Given the description of an element on the screen output the (x, y) to click on. 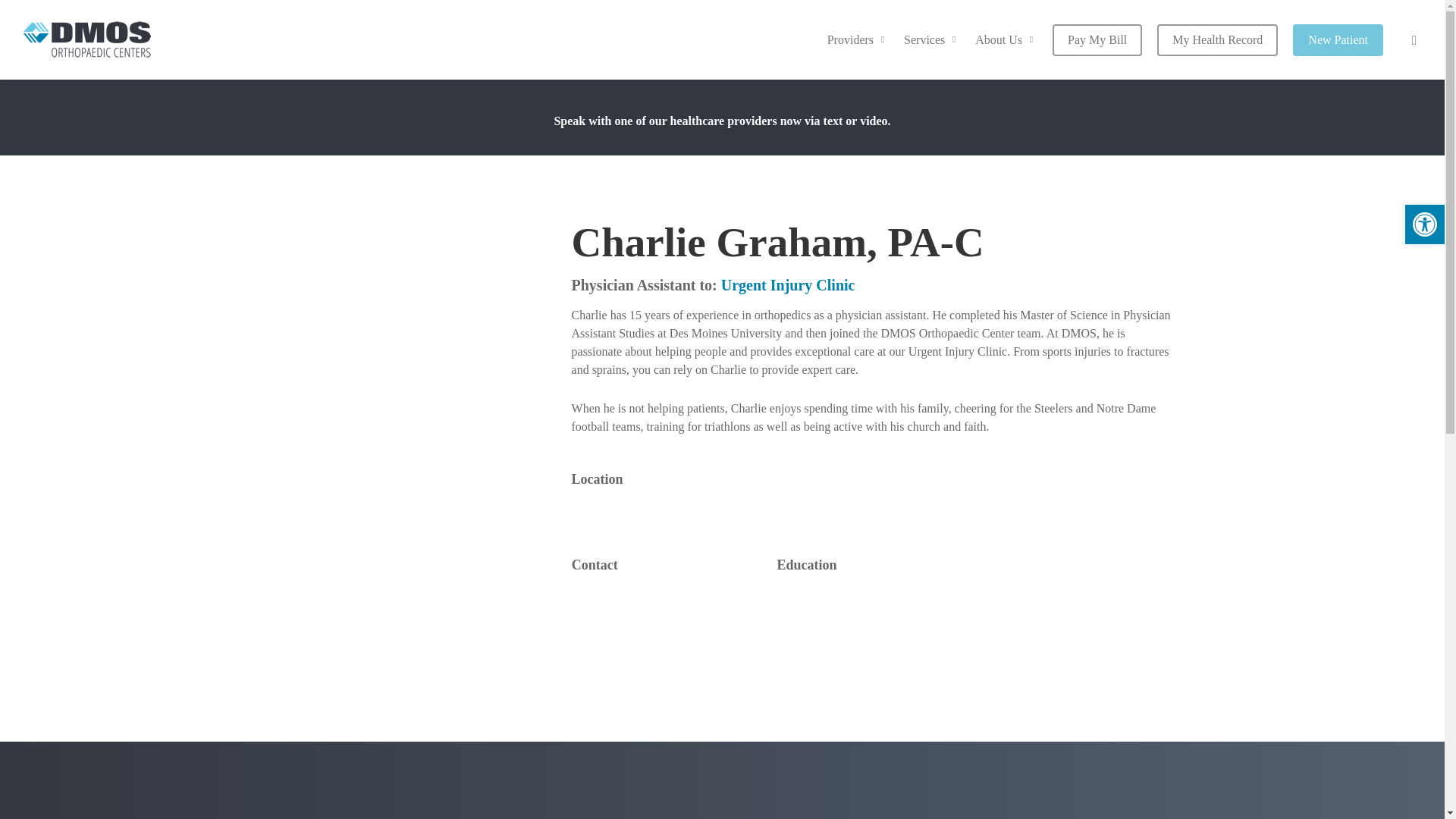
My Health Record (1217, 39)
Accessibility Tools (1424, 224)
Pay My Bill (1096, 39)
New Patient (1337, 39)
About Us (1006, 39)
Accessibility Tools (1424, 224)
Services (932, 39)
Providers (857, 39)
